Given the description of an element on the screen output the (x, y) to click on. 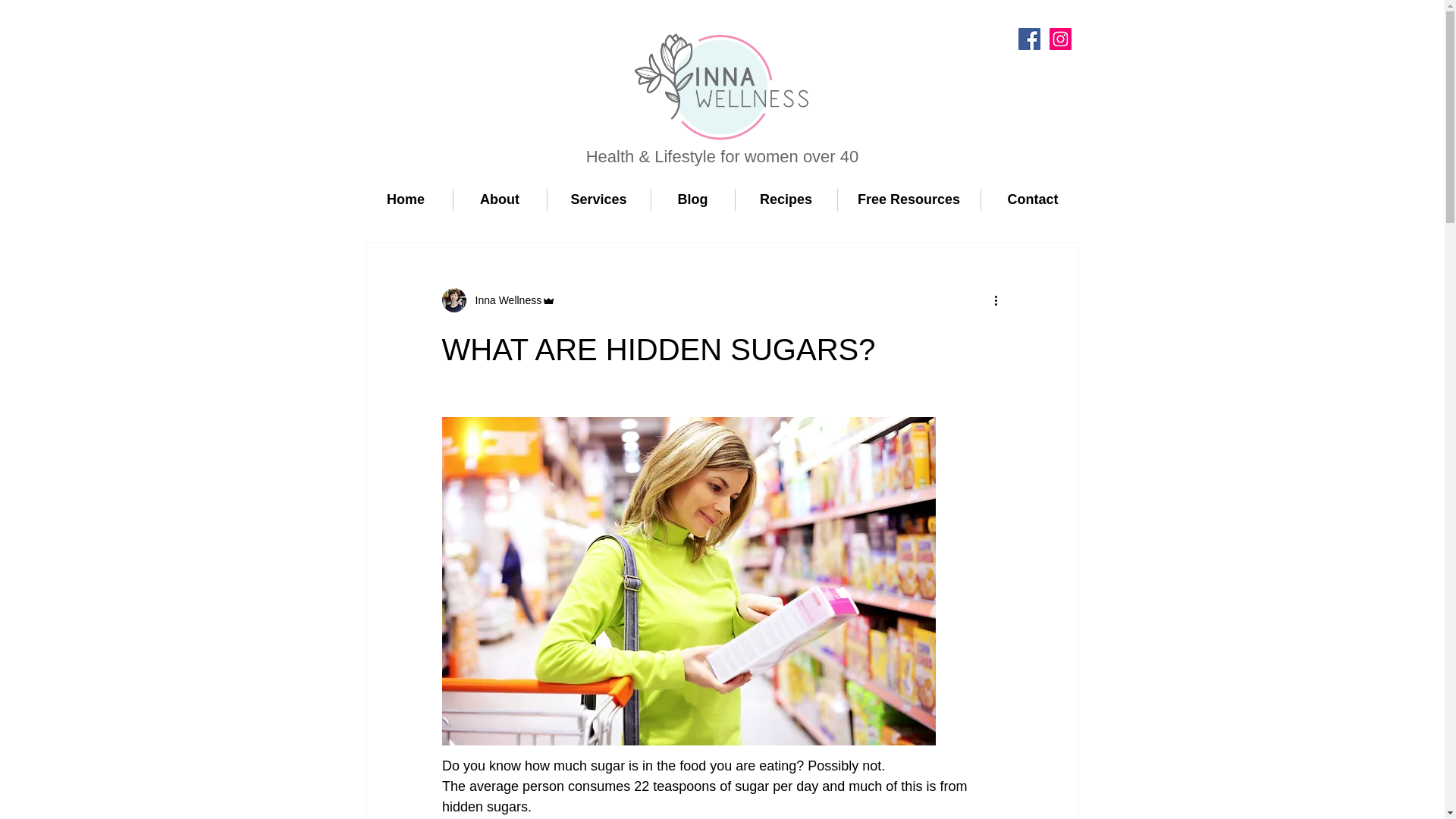
Inna Wellness (503, 300)
Home (405, 199)
Recipes (786, 199)
Blog (691, 199)
About (499, 199)
Services (598, 199)
Contact (1032, 199)
Free Resources (908, 199)
